Given the description of an element on the screen output the (x, y) to click on. 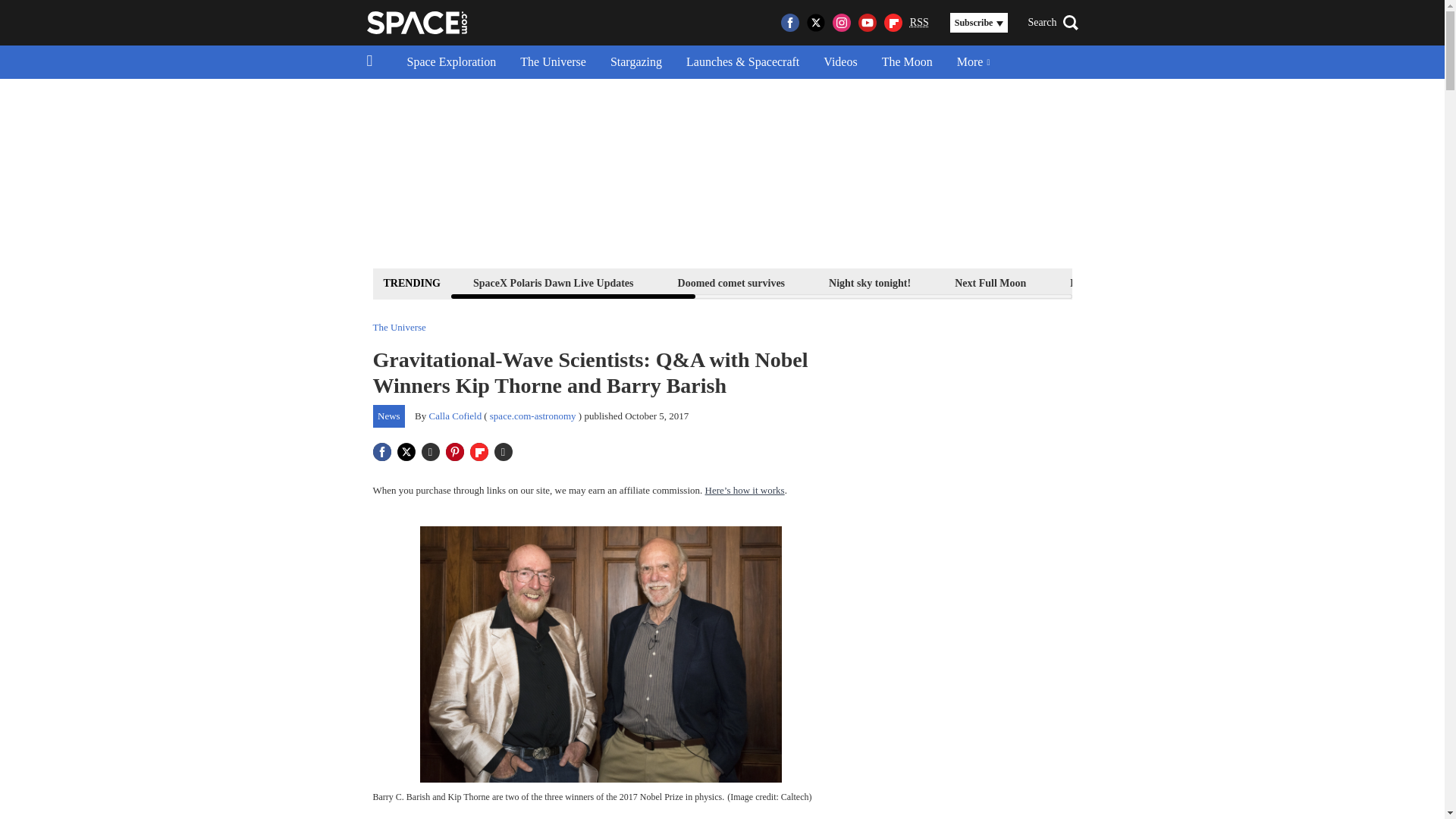
RSS (919, 22)
Best Binoculars (1218, 282)
Best Telescopes (1104, 282)
Space Exploration (451, 61)
Stargazing (636, 61)
Next Full Moon (989, 282)
Night sky tonight! (869, 282)
Really Simple Syndication (919, 21)
Doomed comet survives (731, 282)
The Universe (553, 61)
